Given the description of an element on the screen output the (x, y) to click on. 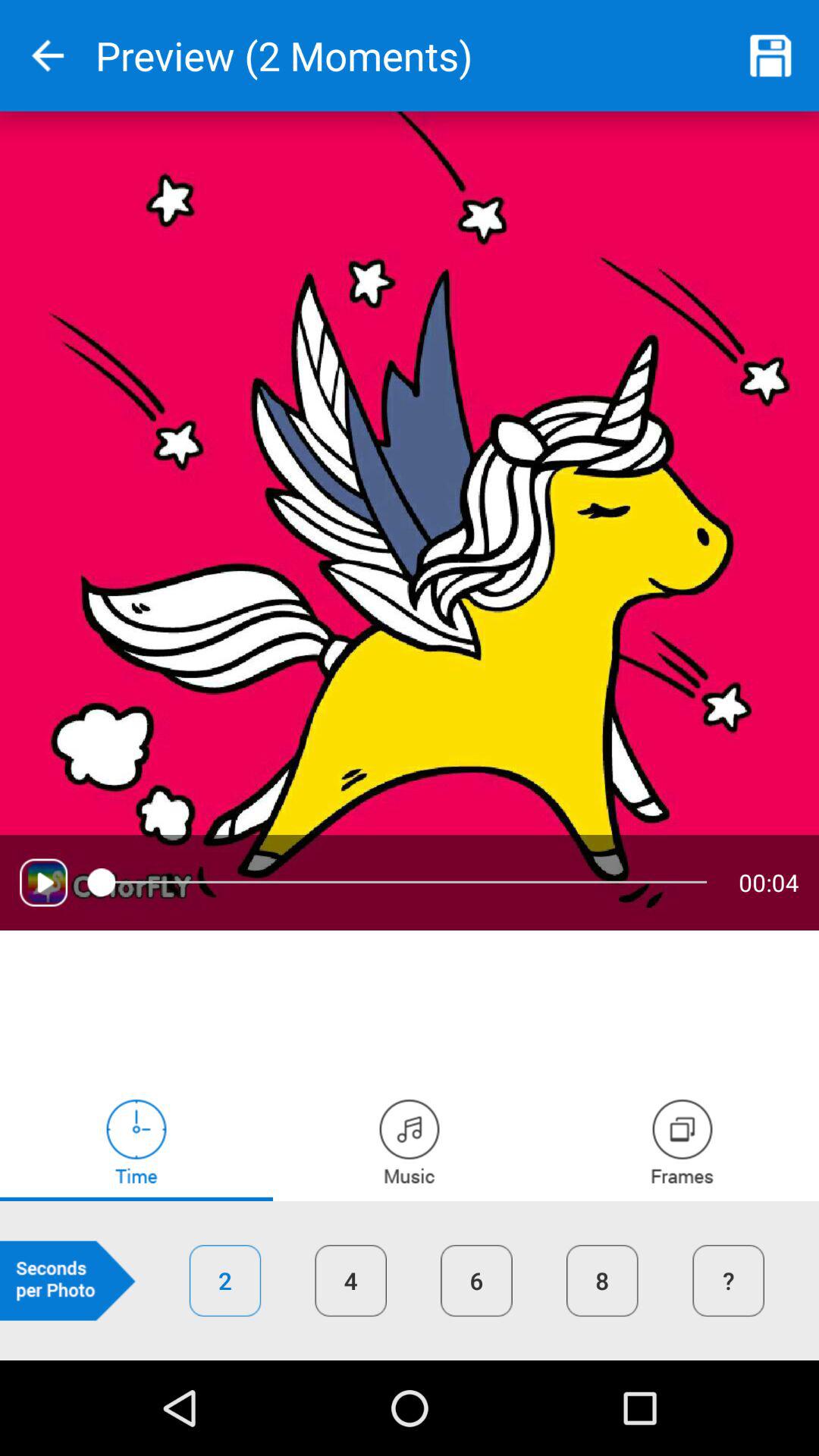
go to music (409, 1141)
